Given the description of an element on the screen output the (x, y) to click on. 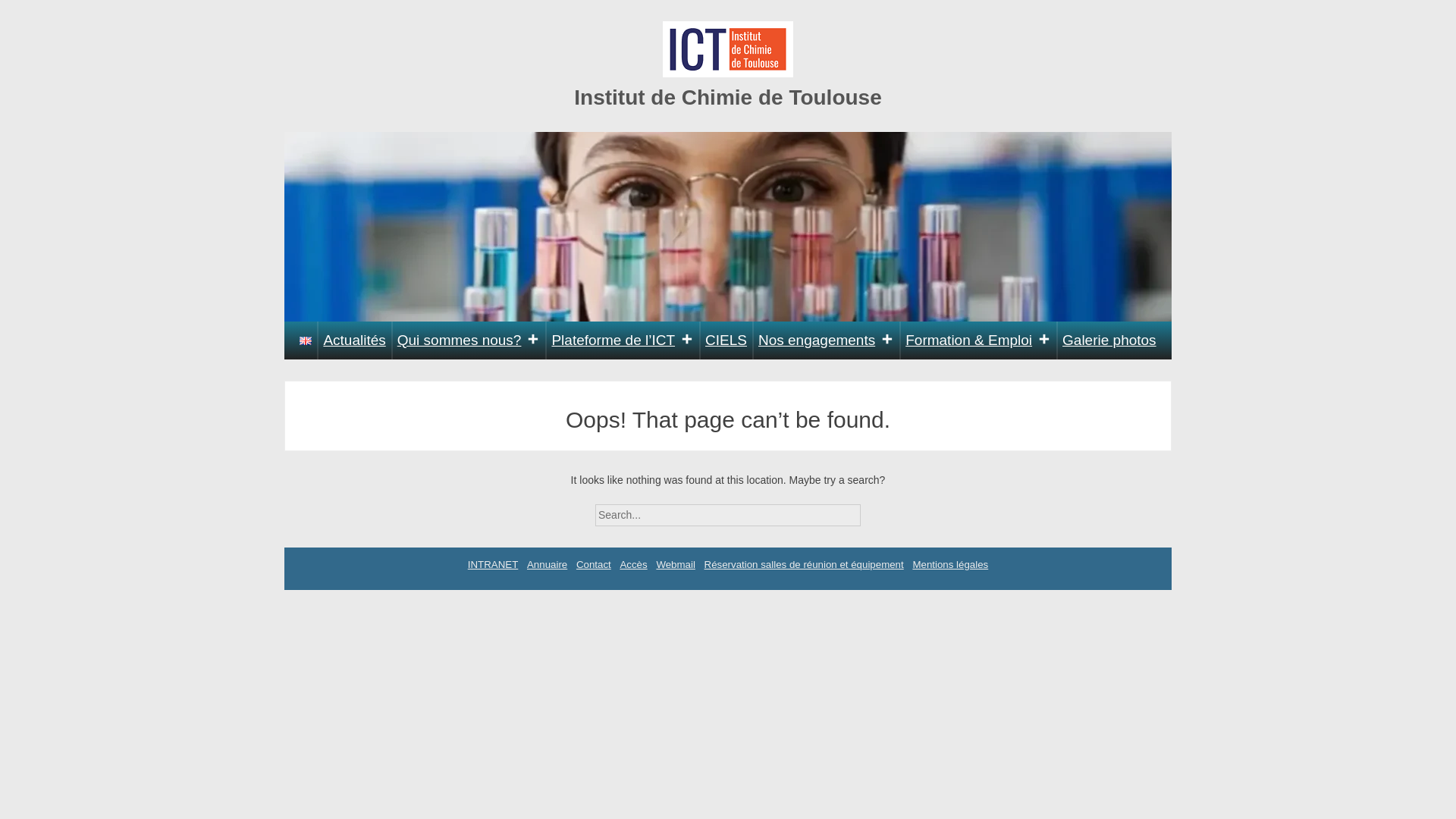
CIELS (726, 340)
Nos engagements (825, 340)
Search (873, 509)
Qui sommes nous? (468, 340)
Search (873, 509)
Institut de Chimie de Toulouse (727, 97)
